Given the description of an element on the screen output the (x, y) to click on. 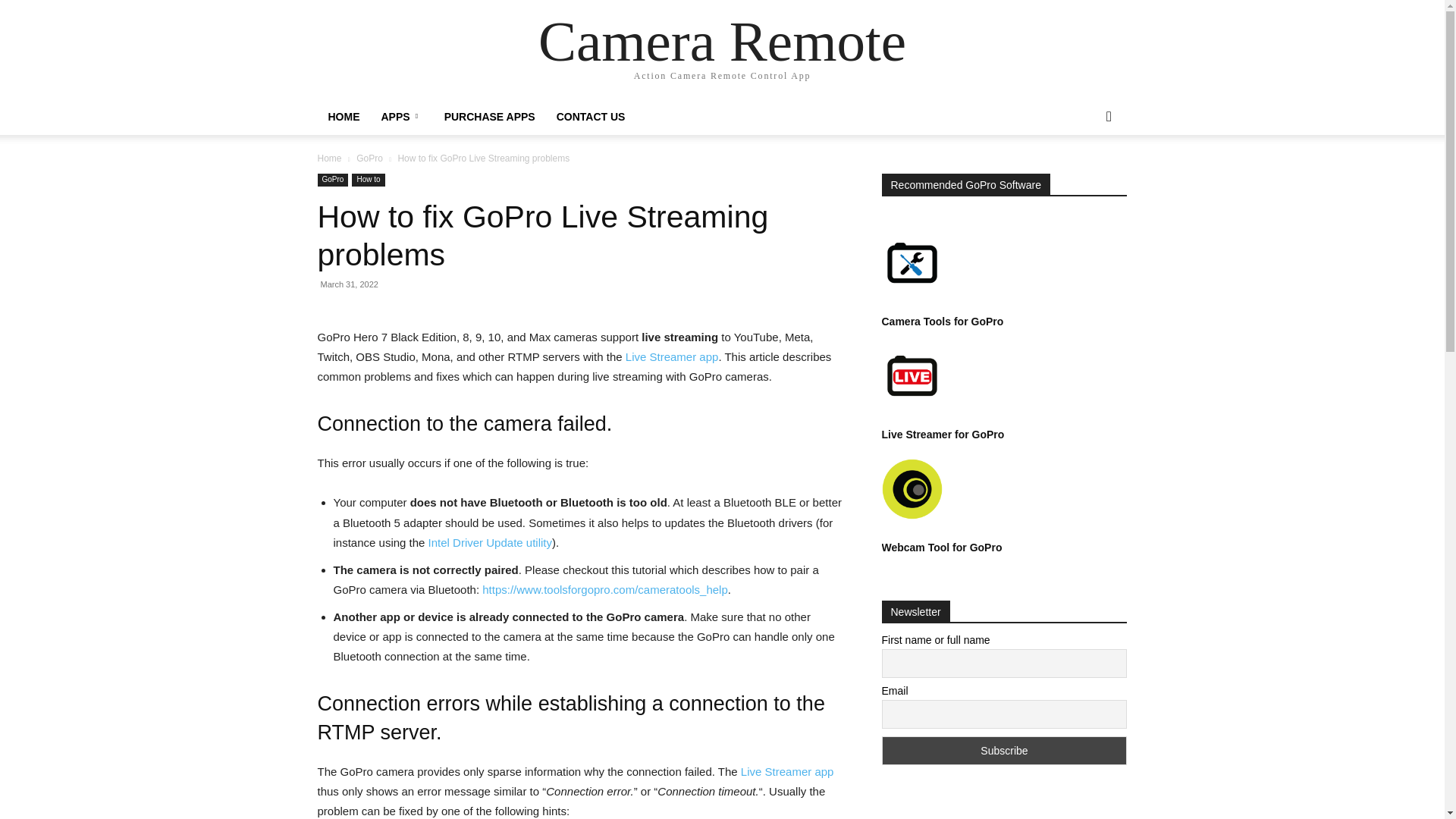
Search (1085, 177)
Live Streamer app (672, 356)
APPS (400, 116)
HOME (343, 116)
PURCHASE APPS (489, 116)
Camera Remote (721, 41)
GoPro (369, 158)
Live Streamer app (787, 771)
How to (368, 179)
View all posts in GoPro (369, 158)
Intel Driver Update utility (489, 542)
GoPro (332, 179)
Subscribe (1003, 750)
Home (328, 158)
CONTACT US (591, 116)
